Given the description of an element on the screen output the (x, y) to click on. 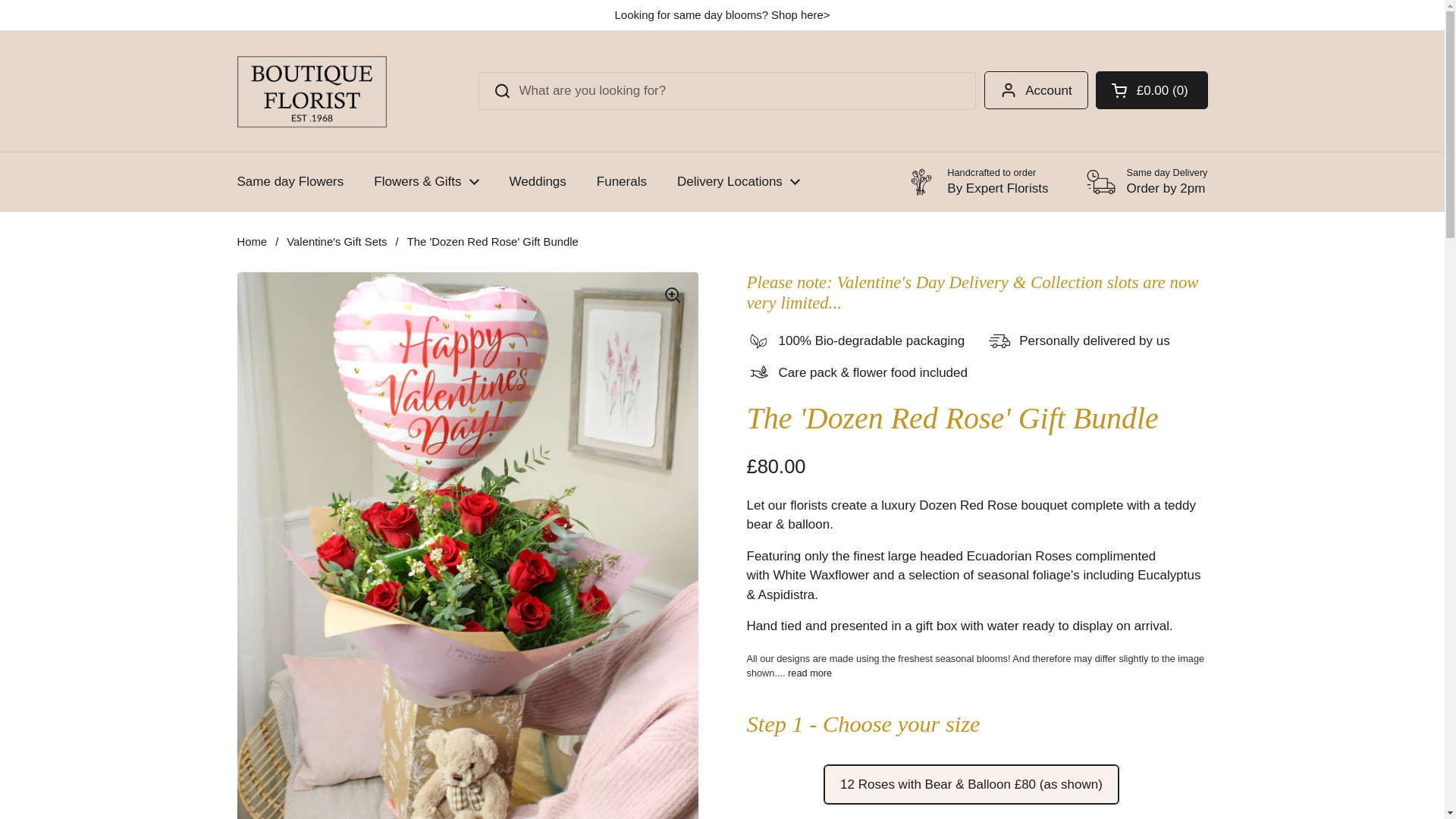
Open cart (1152, 89)
Account (1035, 89)
Funerals (621, 181)
Weddings (537, 181)
Boutique Florist - Derby Florist (310, 90)
Same day Flowers (289, 181)
Delivery Locations (738, 181)
